Given the description of an element on the screen output the (x, y) to click on. 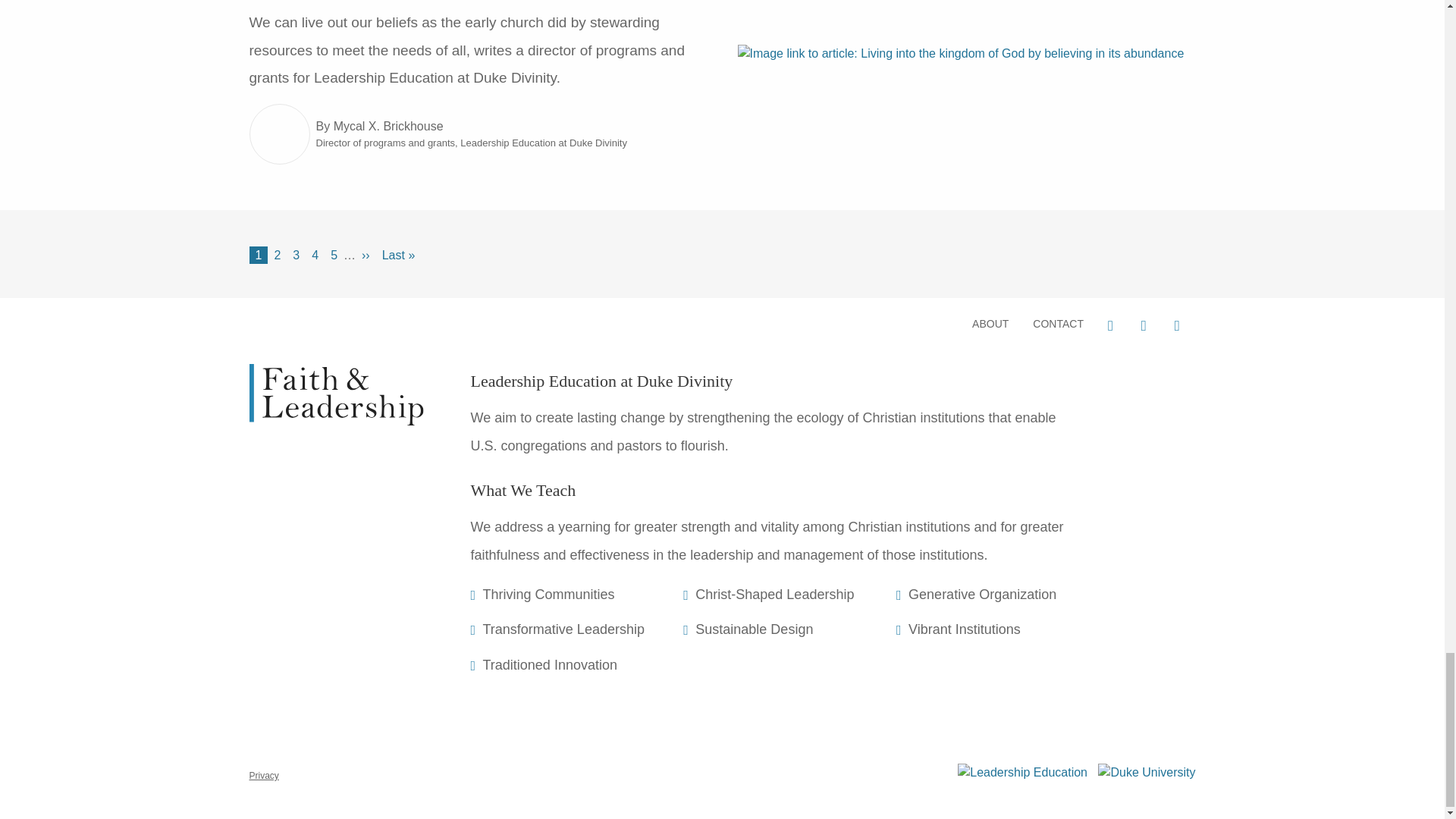
Go to last page (398, 254)
Go to page 3 (295, 254)
Go to page 2 (276, 254)
Current page (257, 254)
Go to next page (365, 254)
Go to page 4 (314, 254)
Go to page 5 (333, 254)
